Given the description of an element on the screen output the (x, y) to click on. 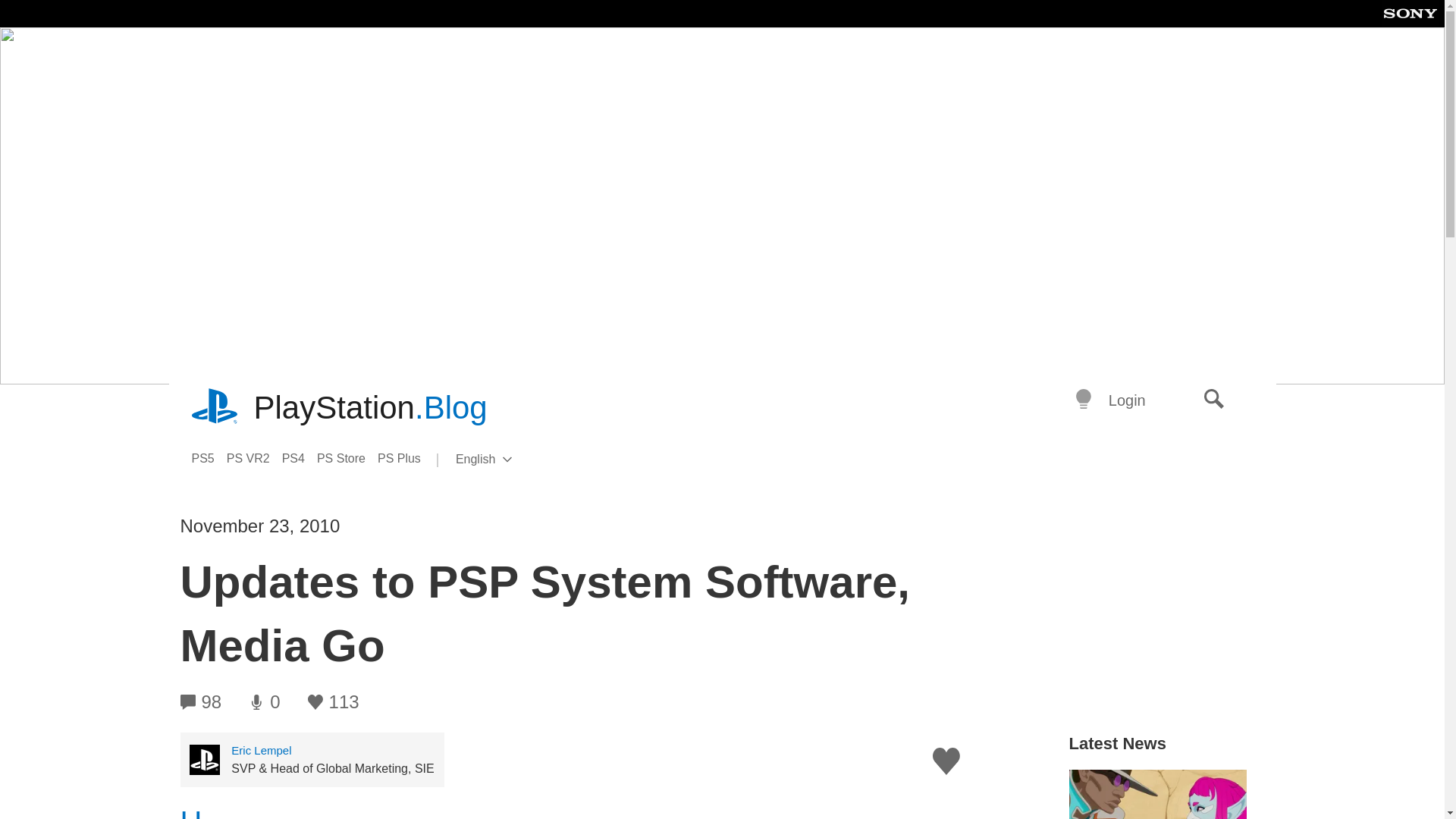
Login (1126, 400)
Like this (946, 760)
PS VR2 (254, 458)
PlayStation.Blog (369, 407)
PS5 (207, 458)
PS Plus (404, 458)
playstation.com (215, 408)
Search (1214, 400)
PS4 (299, 458)
PS Store (508, 459)
Skip to content (347, 458)
